Given the description of an element on the screen output the (x, y) to click on. 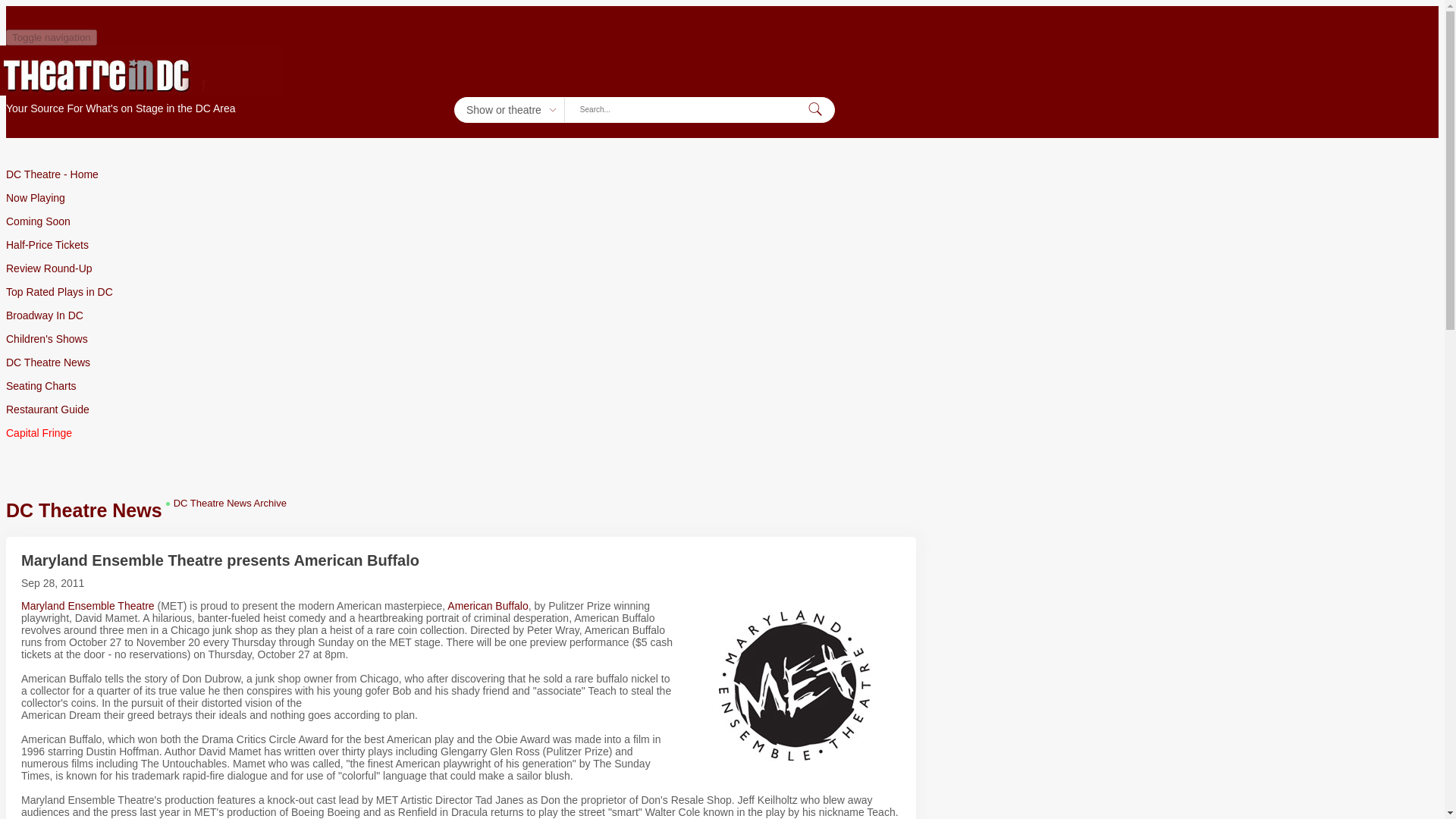
DC Theatre News (464, 362)
Top Rated Plays in DC (464, 291)
Restaurant Guide (464, 409)
American Buffalo (486, 604)
Capital Fringe (464, 433)
Half-Price Tickets (464, 244)
Seating Charts (464, 385)
Now Playing (464, 198)
Review Round-Up (464, 268)
DC Theatre - Home (464, 174)
DC Theatre News Archive (229, 502)
Coming Soon (464, 220)
Children's Shows (464, 338)
Maryland Ensemble Theatre (87, 604)
Go (815, 109)
